Given the description of an element on the screen output the (x, y) to click on. 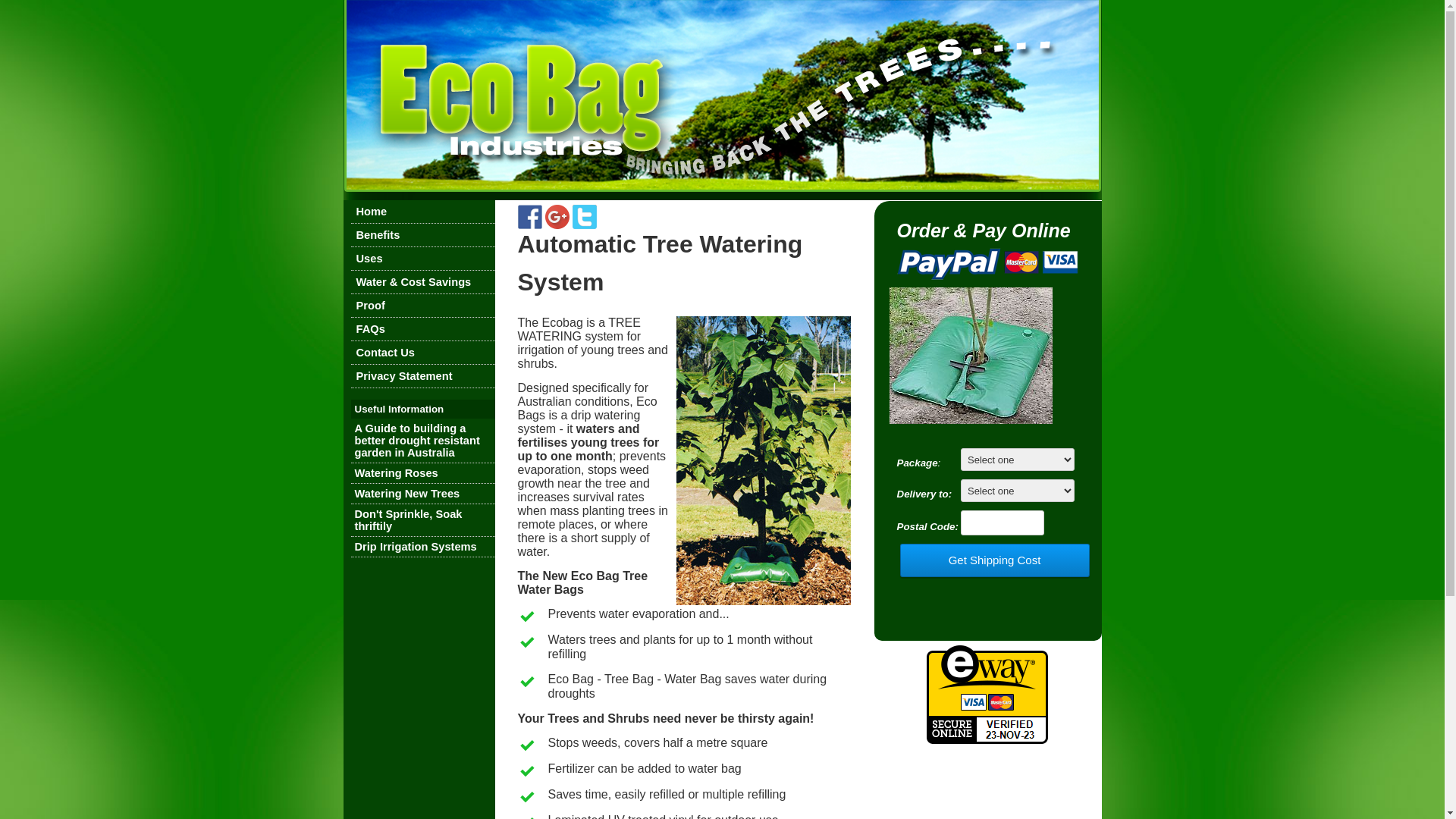
Don't Sprinkle, Soak thriftily Element type: text (408, 520)
Benefits Element type: text (378, 235)
Proof Element type: text (370, 305)
Get Shipping Cost Element type: text (993, 560)
Watering Roses Element type: text (396, 473)
Privacy Statement Element type: text (404, 376)
Drip Irrigation Systems Element type: text (415, 546)
eWAY Payment Gateway Element type: hover (987, 740)
Water & Cost Savings Element type: text (413, 282)
Uses Element type: text (369, 258)
Home Element type: text (371, 211)
Watering New Trees Element type: text (407, 493)
FAQs Element type: text (370, 329)
Contact Us Element type: text (385, 352)
